Given the description of an element on the screen output the (x, y) to click on. 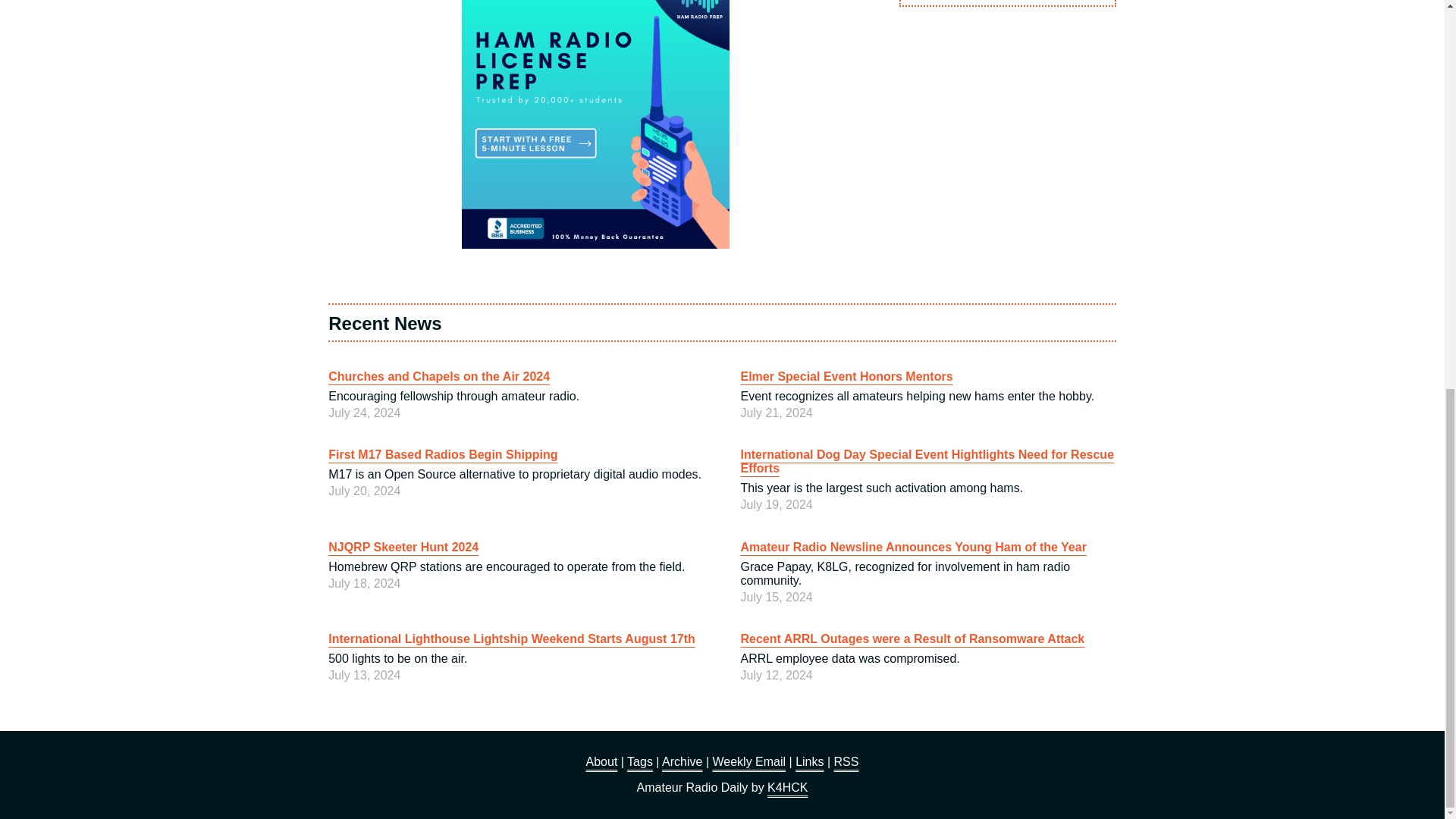
List of all posts (681, 761)
Amateur Radio Newsline Announces Young Ham of the Year (912, 546)
First M17 Based Radios Begin Shipping (443, 454)
Tags (639, 761)
Archive (681, 761)
Posts grouped by tag (639, 761)
K4HCK (787, 787)
Links (809, 761)
NJQRP Skeeter Hunt 2024 (404, 546)
About Amateur Radio Daily (601, 761)
Weekly Email (748, 761)
About (601, 761)
Elmer Special Event Honors Mentors (845, 376)
